Given the description of an element on the screen output the (x, y) to click on. 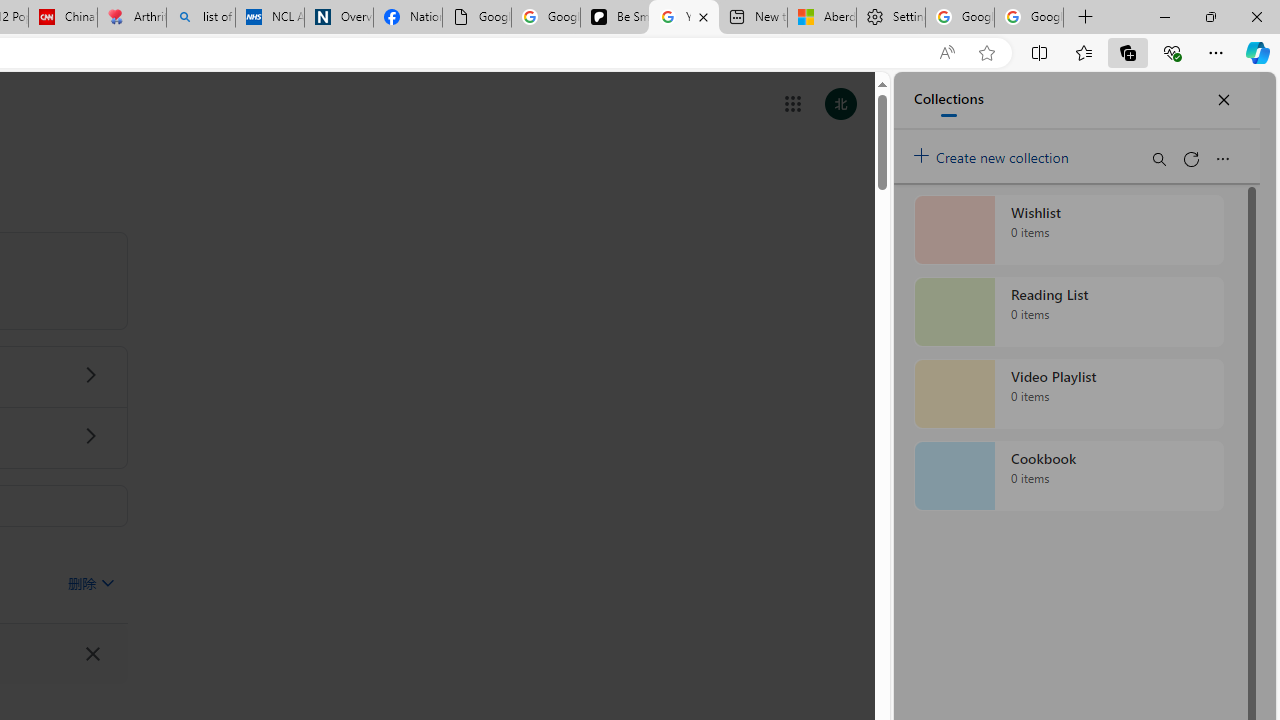
Aberdeen, Hong Kong SAR hourly forecast | Microsoft Weather (822, 17)
Google Analytics Opt-out Browser Add-on Download Page (476, 17)
